Given the description of an element on the screen output the (x, y) to click on. 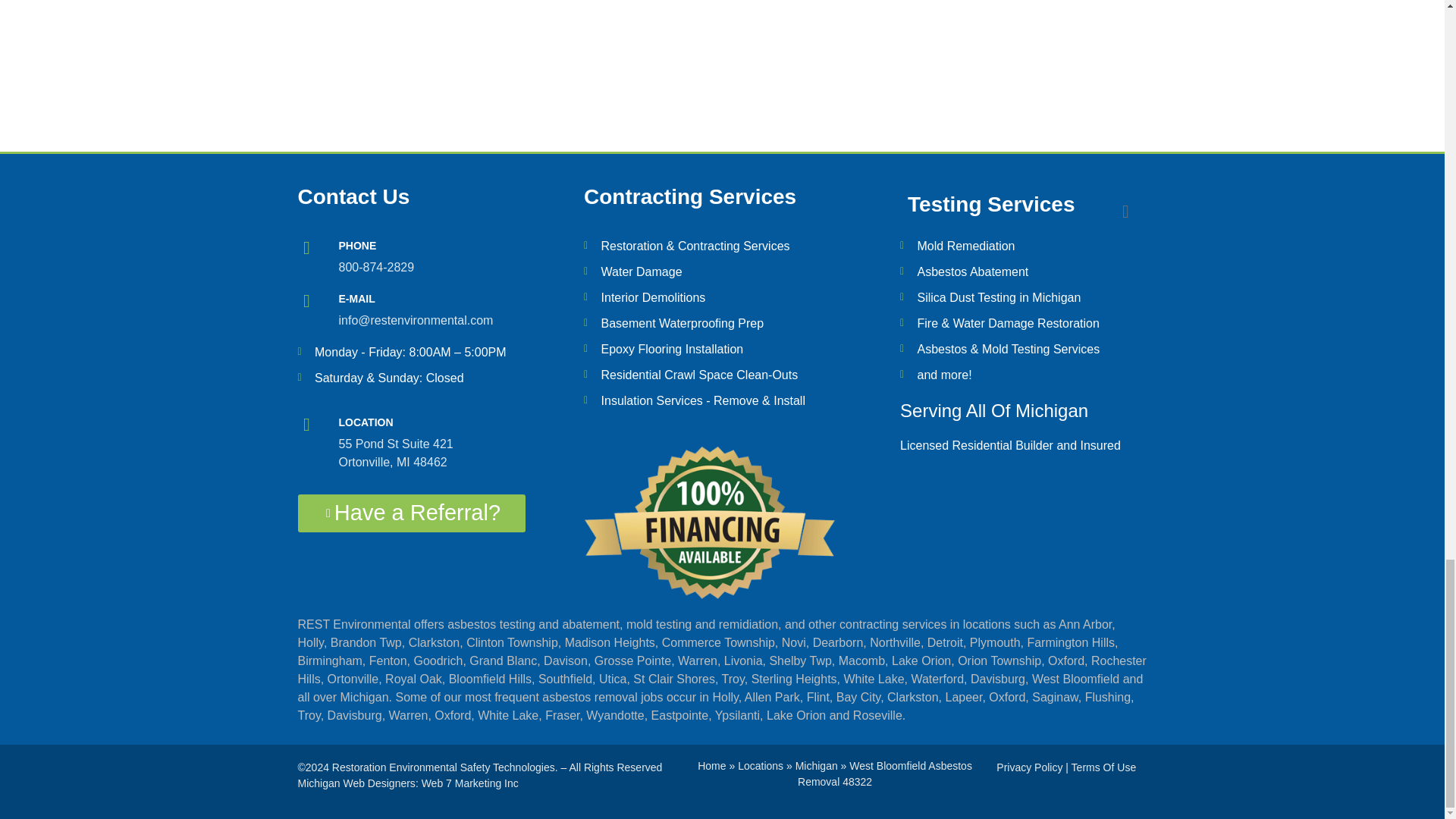
Michigan Web Designers and SEO Firm, Web 7 Marketing Inc (355, 783)
